Given the description of an element on the screen output the (x, y) to click on. 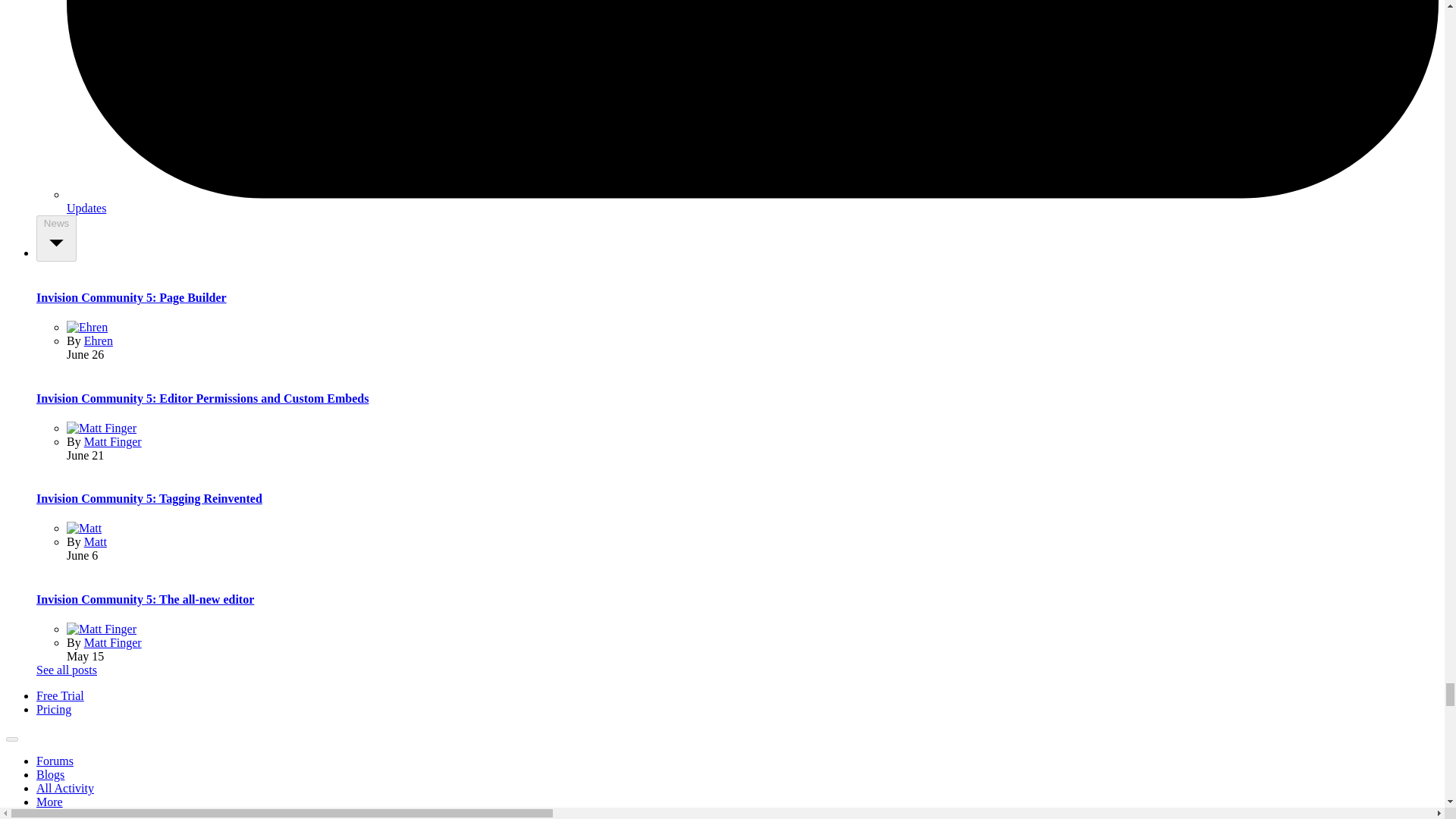
Go to Matt's profile (83, 527)
Read more about Invision Community 5: Page Builder (131, 297)
Go to Matt Finger's profile (101, 427)
Go to Ehren's profile (98, 340)
Read more about Invision Community 5: Tagging Reinvented (149, 498)
Go to Matt Finger's profile (112, 440)
Go to Matt Finger's profile (112, 642)
Go to Matt Finger's profile (101, 628)
Go to Ehren's profile (86, 327)
Read more about Invision Community 5: The all-new editor (144, 599)
Go to Matt's profile (95, 541)
